Given the description of an element on the screen output the (x, y) to click on. 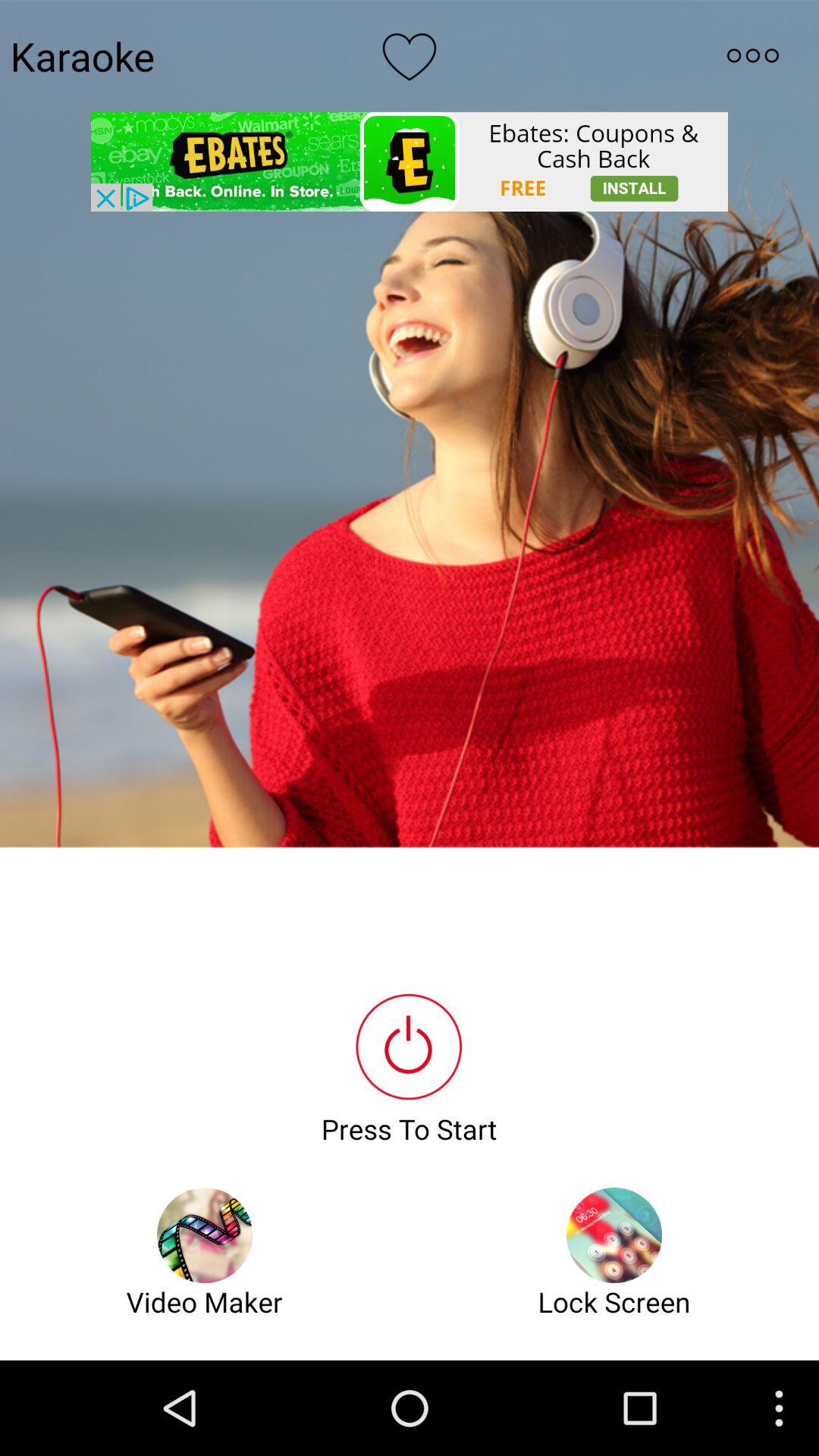
go to switch (752, 55)
